Given the description of an element on the screen output the (x, y) to click on. 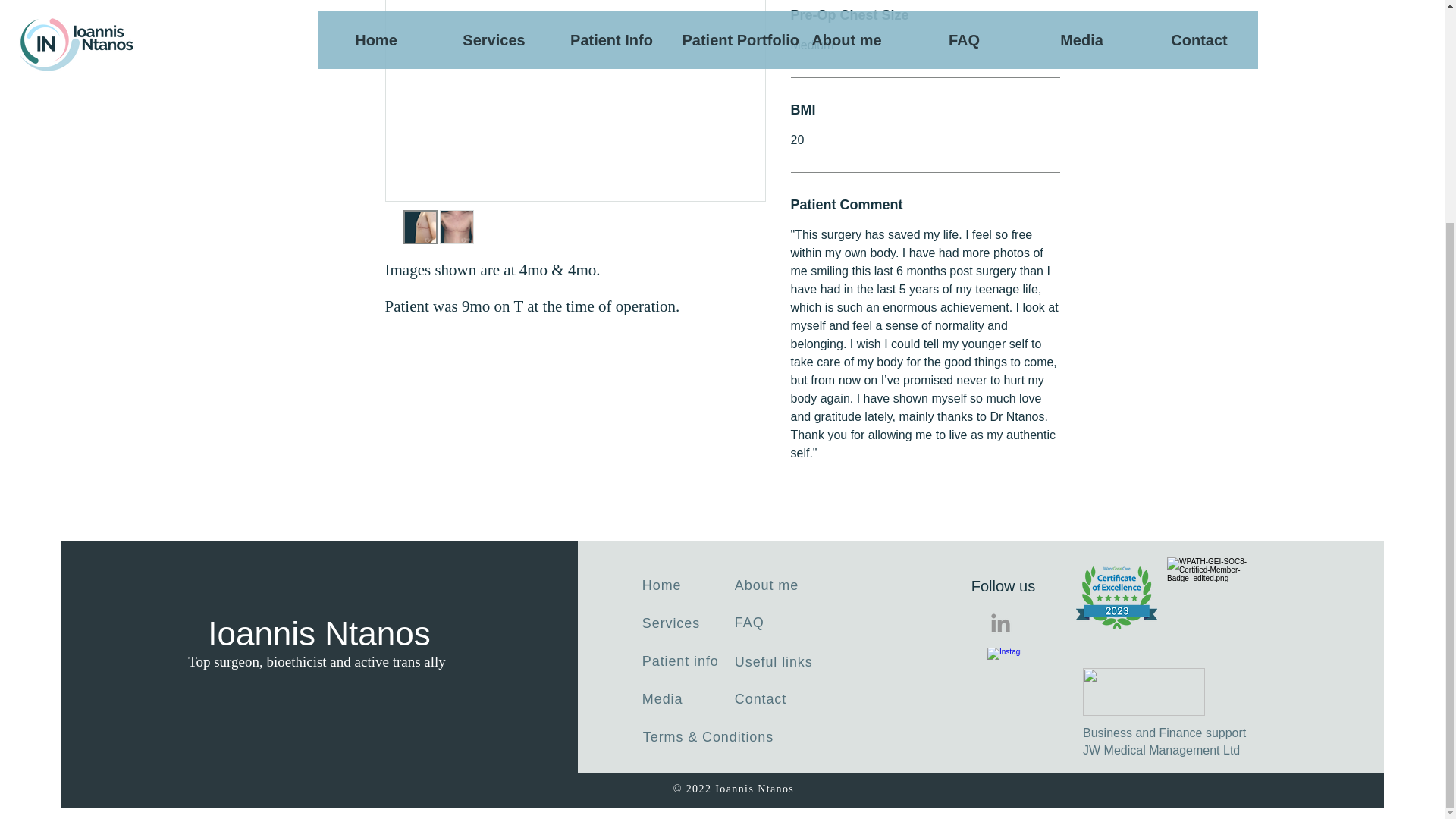
Home (688, 585)
Media (688, 699)
Patient info (688, 661)
IWantGreatCare Certificat o Excellnce (1116, 597)
Contact (775, 699)
JWM Logo.png (1144, 691)
FAQ (775, 622)
About me (781, 585)
Useful links (1164, 740)
